Given the description of an element on the screen output the (x, y) to click on. 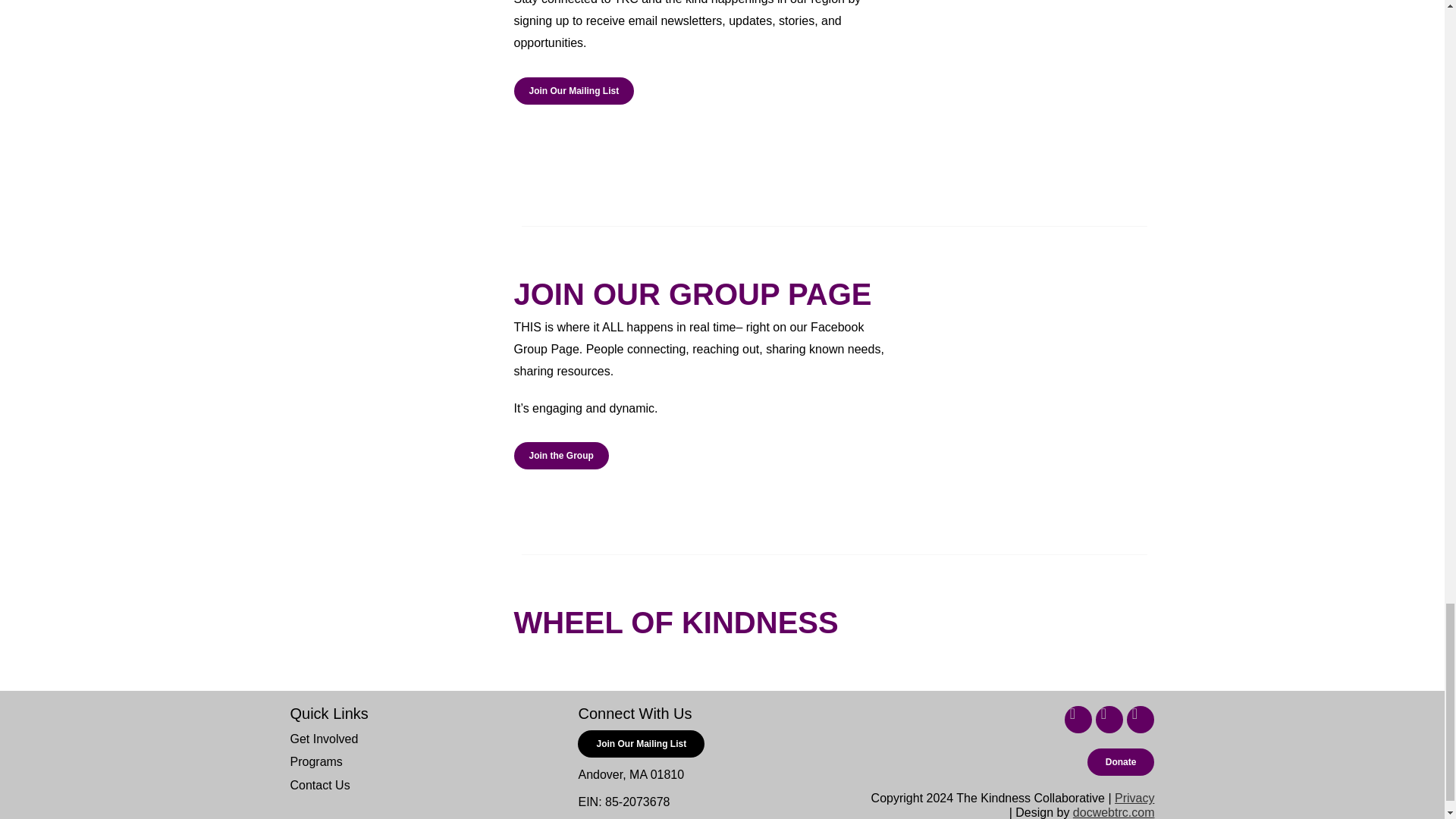
Contact Us (319, 785)
Join Our Mailing List (573, 90)
Join the Group (560, 455)
Join Our Mailing List (641, 743)
Programs (315, 761)
Get Involved (323, 739)
